Given the description of an element on the screen output the (x, y) to click on. 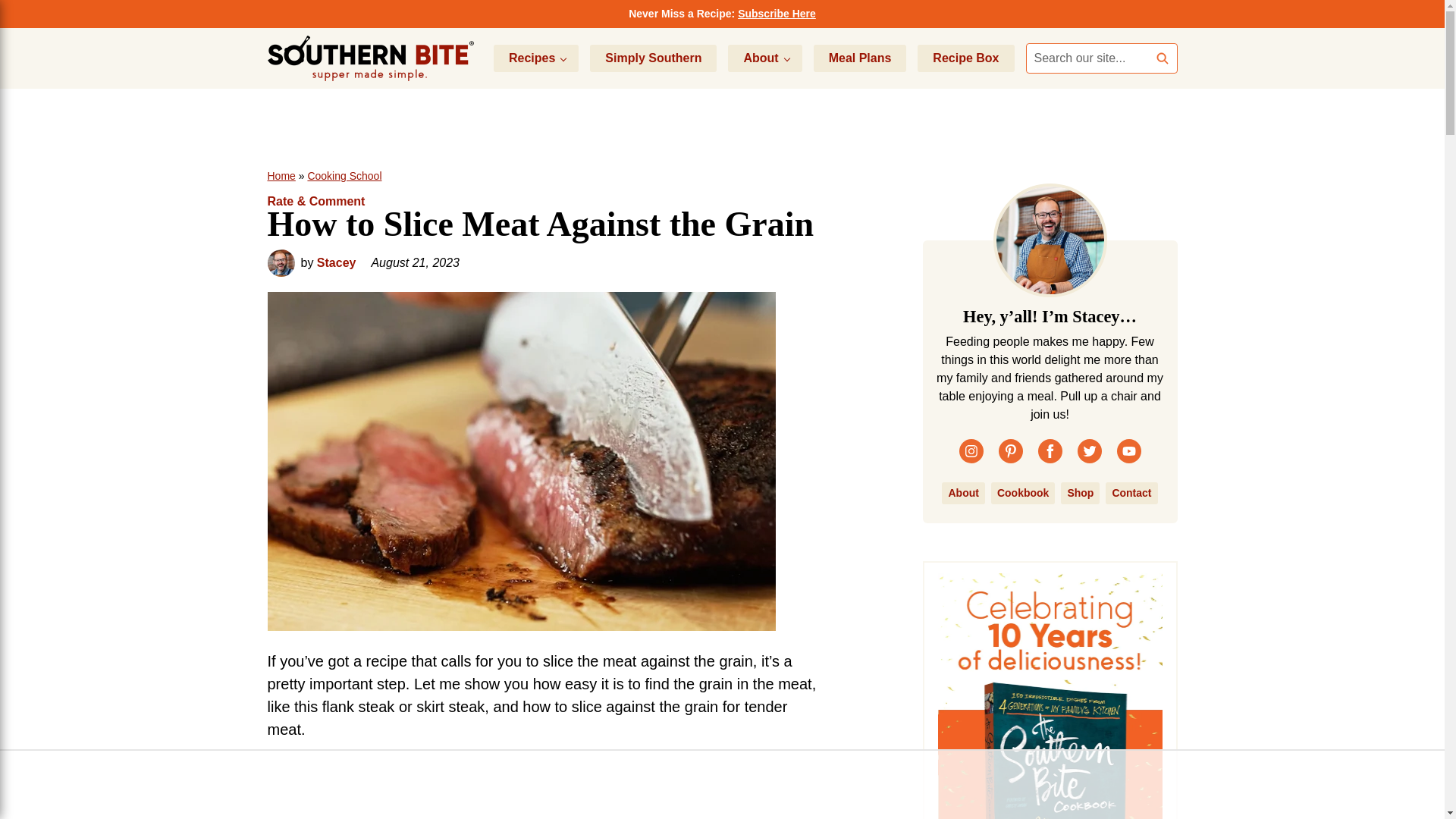
About (765, 58)
Simply Southern (652, 58)
Cooking School (344, 175)
Subscribe Here (776, 13)
Home (280, 175)
Stacey (336, 262)
Submit search (1161, 58)
Submit search (1161, 58)
Submit search (1161, 58)
Recipe Box (965, 58)
